Given the description of an element on the screen output the (x, y) to click on. 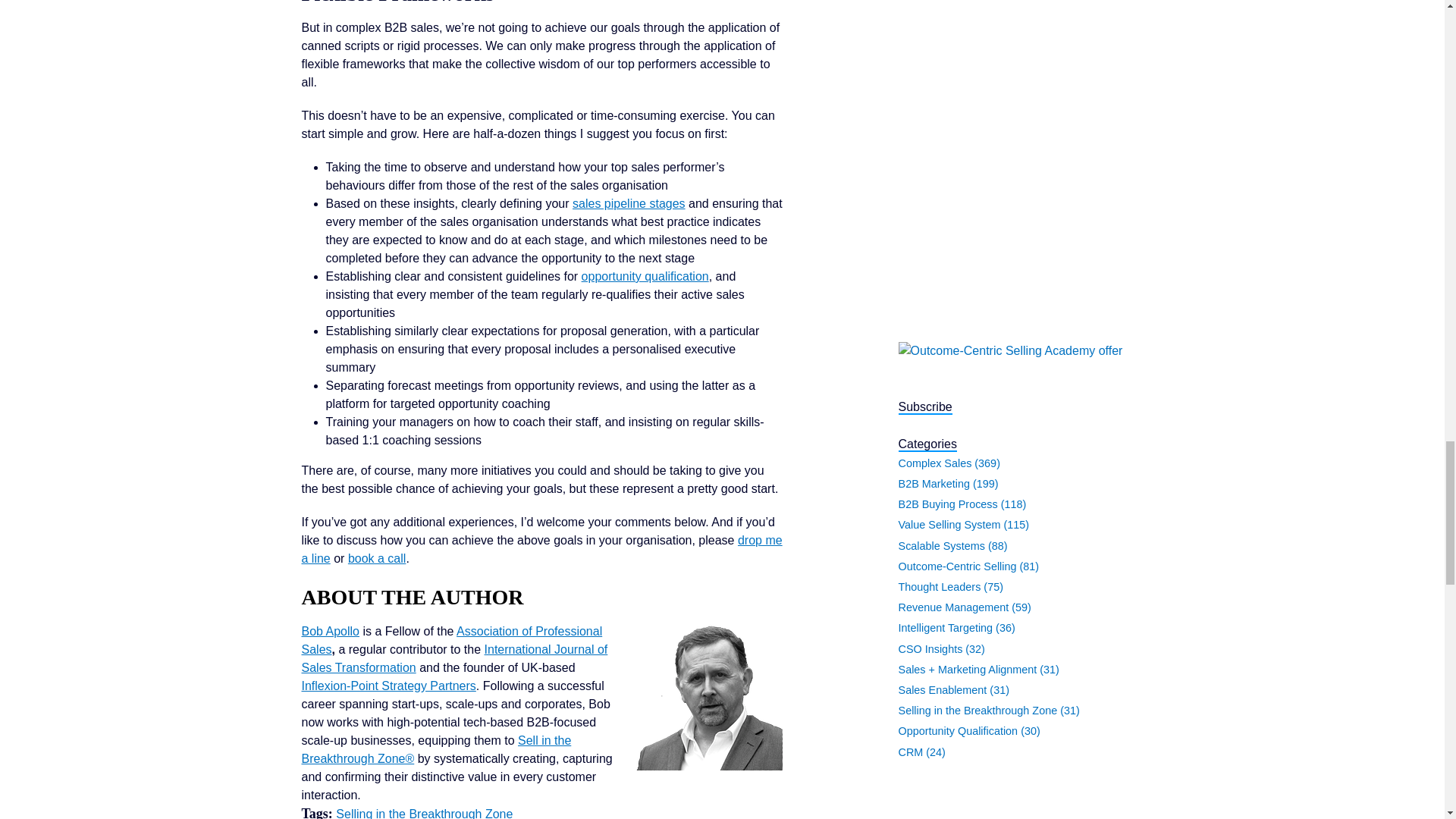
Association of Professional Sales (451, 640)
book a call (376, 558)
Selling in the Breakthrough Zone (424, 813)
International Journal of Sales Transformation (454, 658)
Bob Apollo (330, 631)
sales pipeline stages (628, 203)
Inflexion-Point Strategy Partners (388, 685)
drop me a line (542, 549)
opportunity qualification (644, 276)
